Given the description of an element on the screen output the (x, y) to click on. 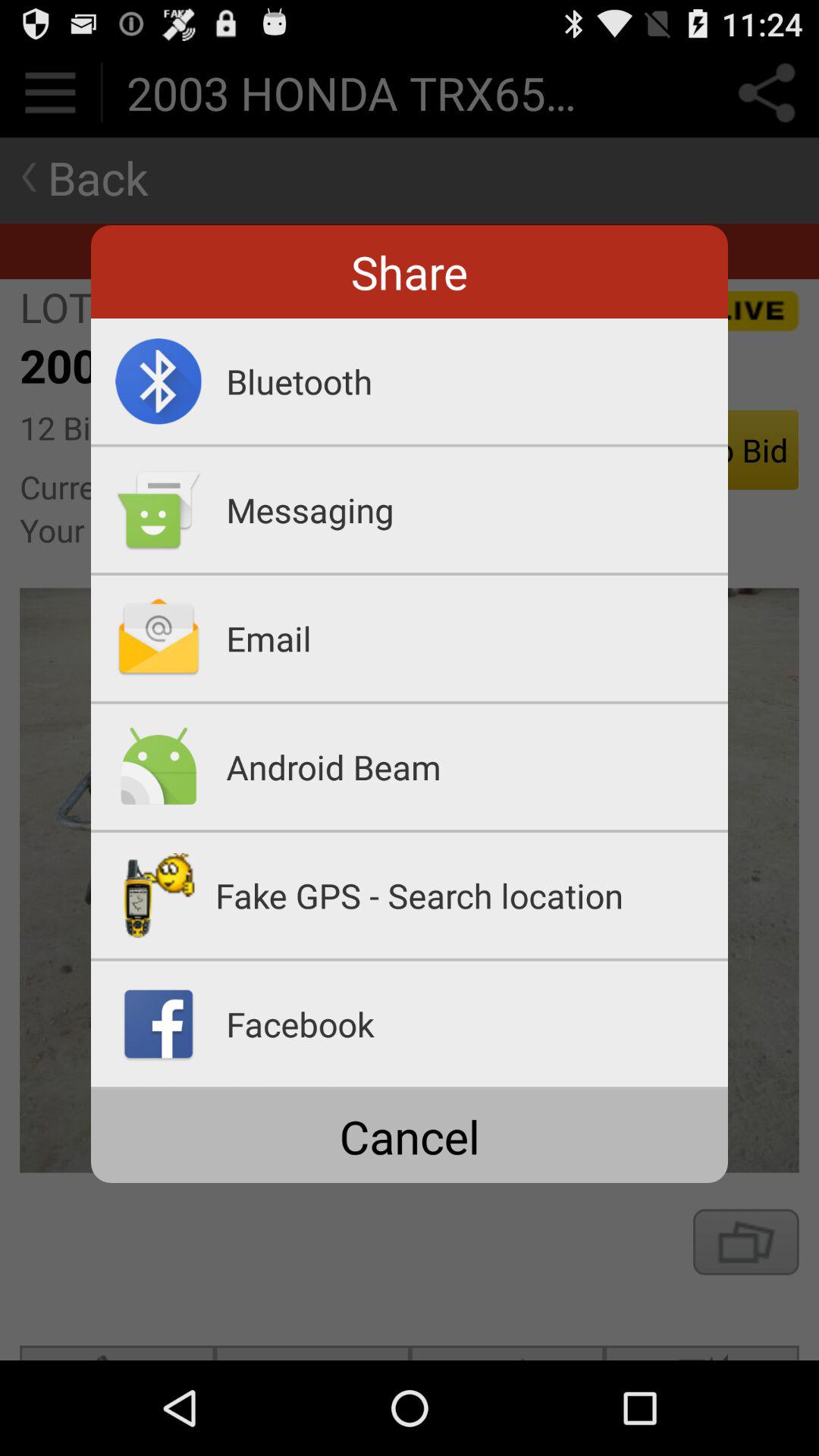
scroll to the messaging icon (477, 509)
